Given the description of an element on the screen output the (x, y) to click on. 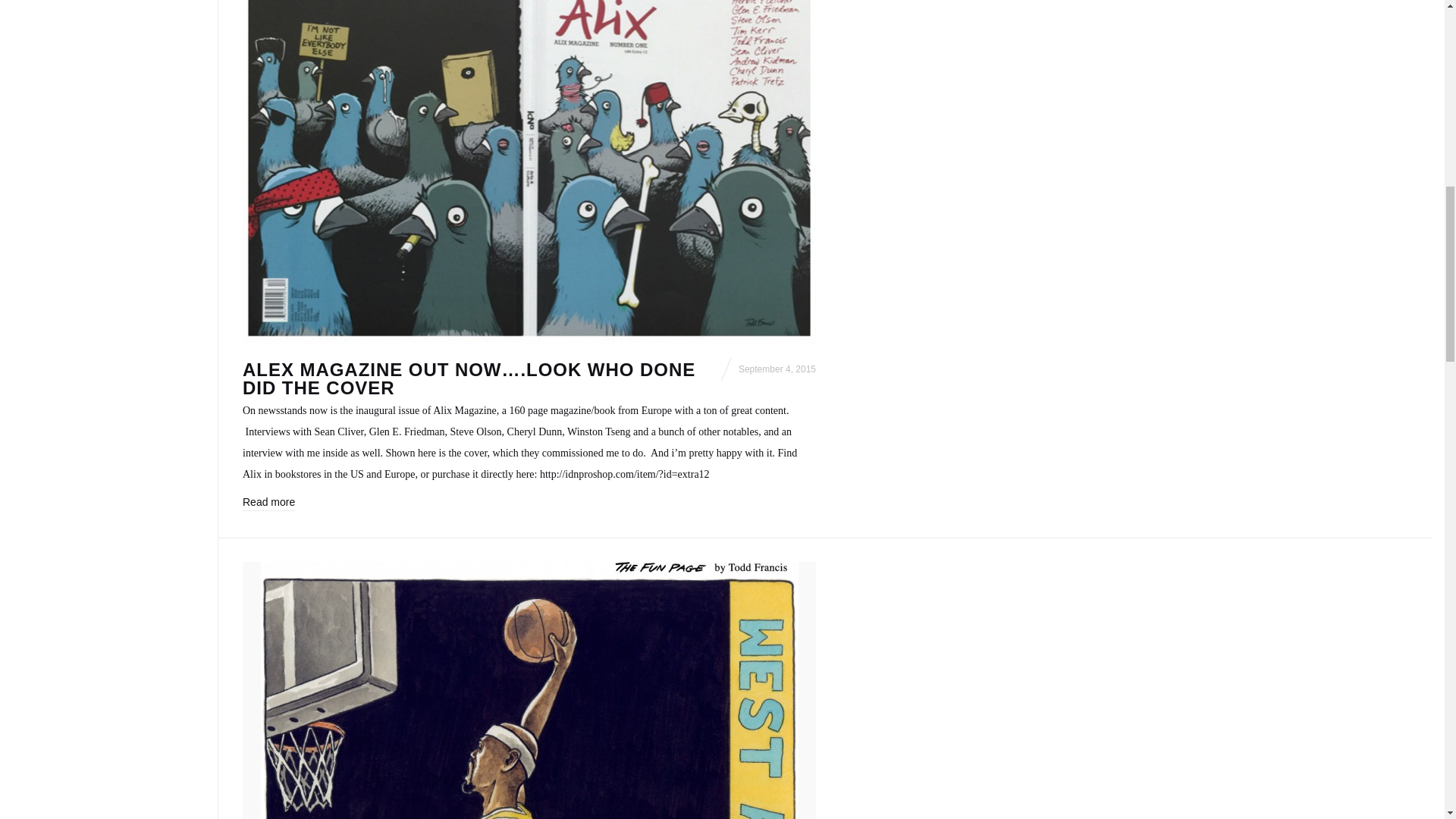
Read more (269, 503)
